Given the description of an element on the screen output the (x, y) to click on. 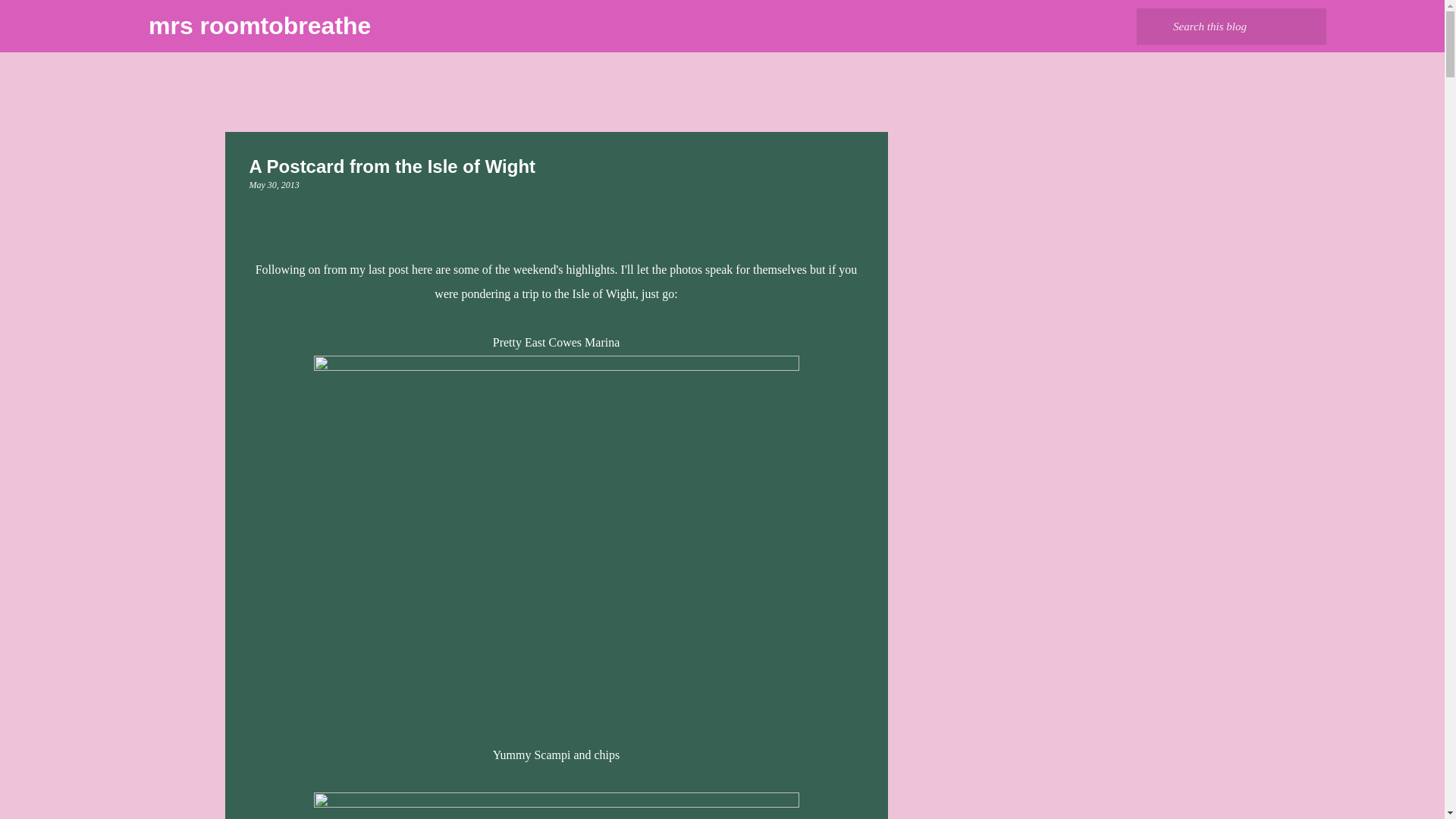
permanent link (273, 184)
May 30, 2013 (273, 184)
mrs roomtobreathe (259, 25)
